Given the description of an element on the screen output the (x, y) to click on. 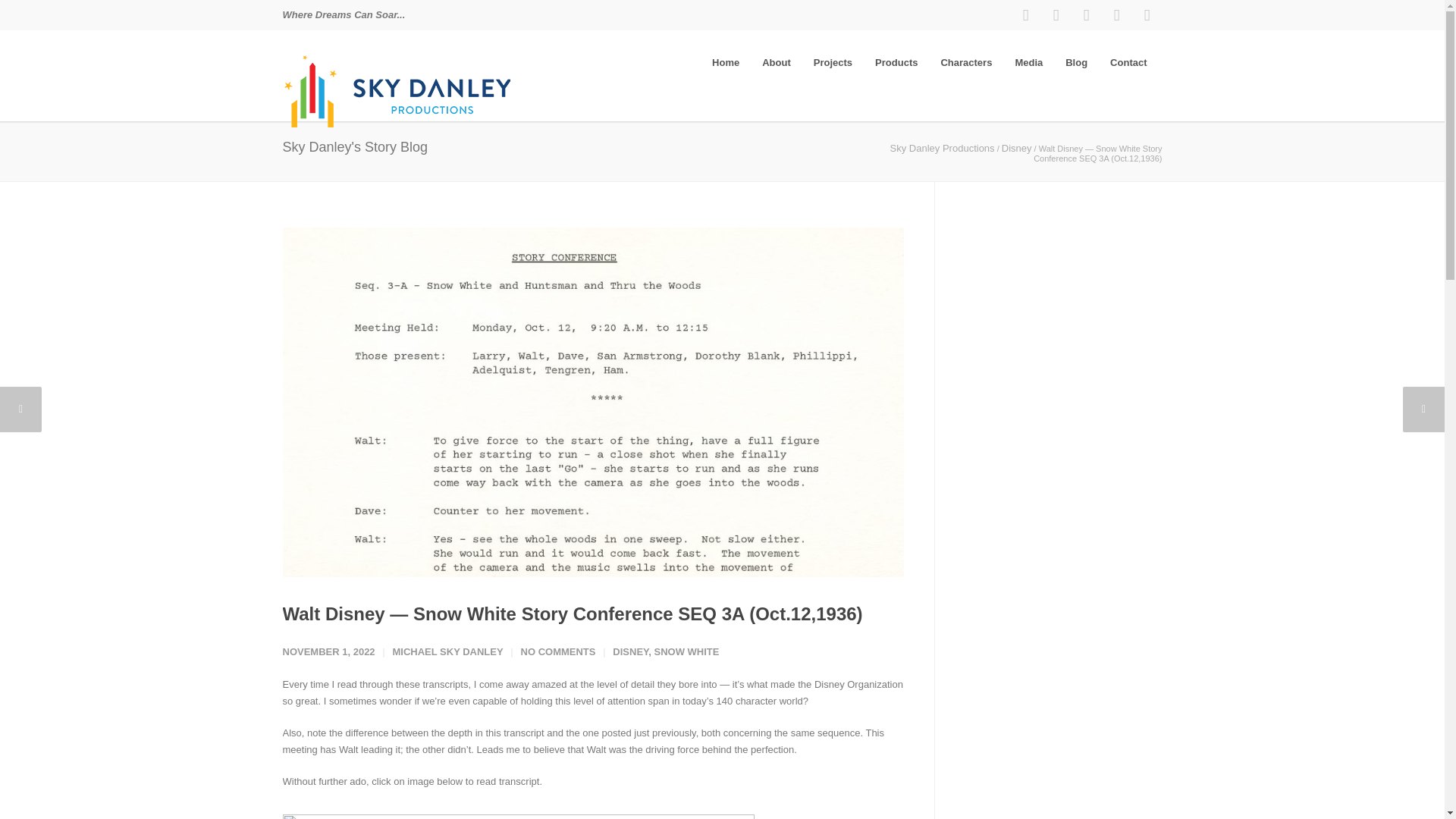
SNOW WHITE (686, 651)
Characters (965, 62)
Instagram (1055, 15)
MICHAEL SKY DANLEY (446, 651)
Media (1028, 62)
Home (725, 62)
DISNEY (629, 651)
Sky Danley Productions (941, 147)
LinkedIn (1085, 15)
NO COMMENTS (558, 651)
